Given the description of an element on the screen output the (x, y) to click on. 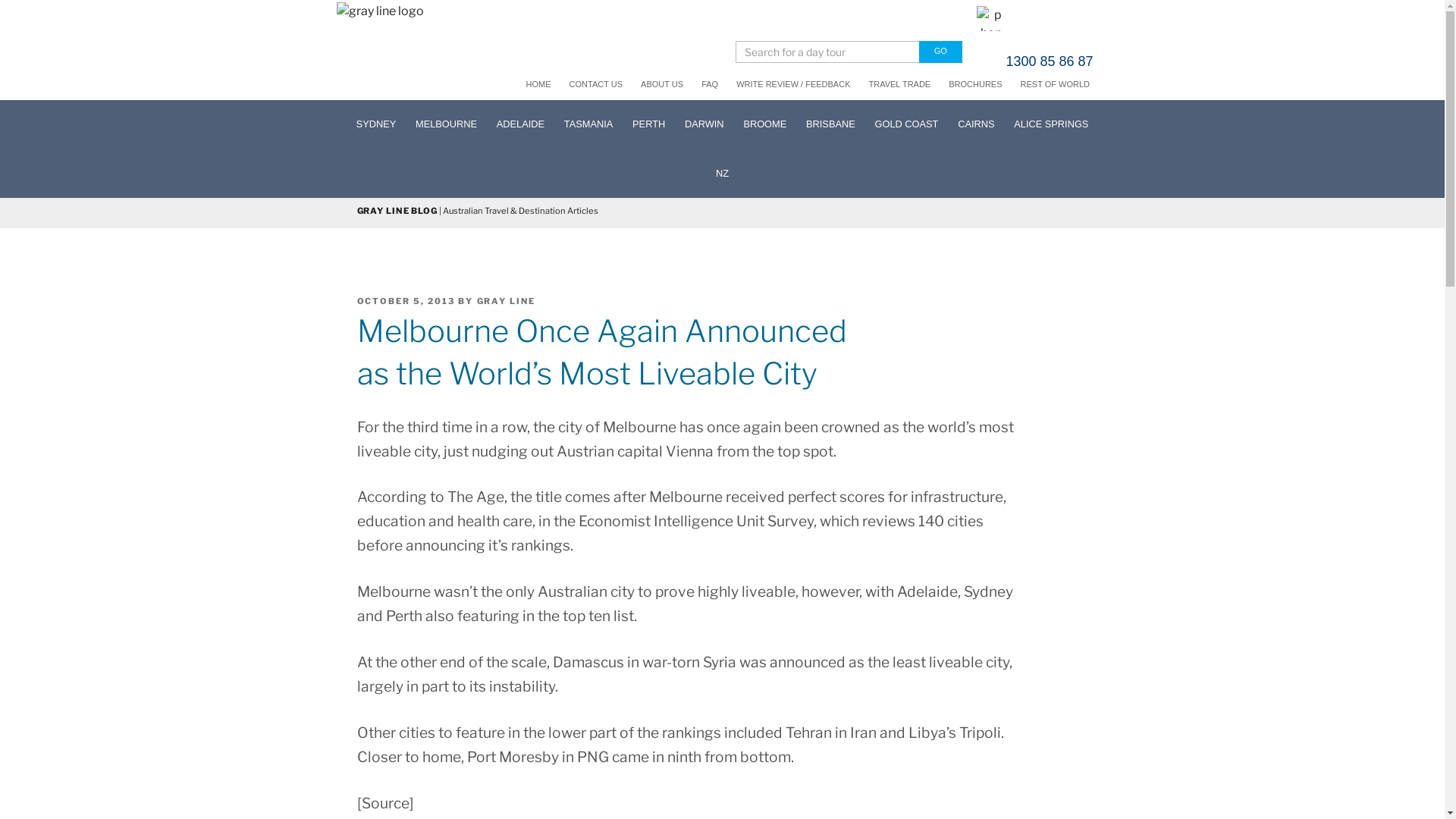
GO Element type: text (940, 51)
BROOME Element type: text (765, 124)
REST OF WORLD Element type: text (1057, 84)
TASMANIA Element type: text (588, 124)
HOME Element type: text (541, 84)
OCTOBER 5, 2013 Element type: text (405, 300)
ALICE SPRINGS Element type: text (1050, 124)
MELBOURNE Element type: text (446, 124)
GRAY LINE Element type: text (505, 300)
FAQ Element type: text (712, 84)
WRITE REVIEW / FEEDBACK Element type: text (796, 84)
BROCHURES Element type: text (977, 84)
SYDNEY Element type: text (376, 124)
NZ Element type: text (722, 172)
PERTH Element type: text (648, 124)
GRAY LINE BLOG Element type: text (396, 210)
CONTACT US Element type: text (599, 84)
ABOUT US Element type: text (664, 84)
GOLD COAST Element type: text (906, 124)
CAIRNS Element type: text (975, 124)
TRAVEL TRADE Element type: text (903, 84)
ADELAIDE Element type: text (520, 124)
| Australian Travel & Destination Articles Element type: text (517, 210)
DARWIN Element type: text (703, 124)
BRISBANE Element type: text (830, 124)
1300 85 86 87 Element type: text (1034, 69)
